Given the description of an element on the screen output the (x, y) to click on. 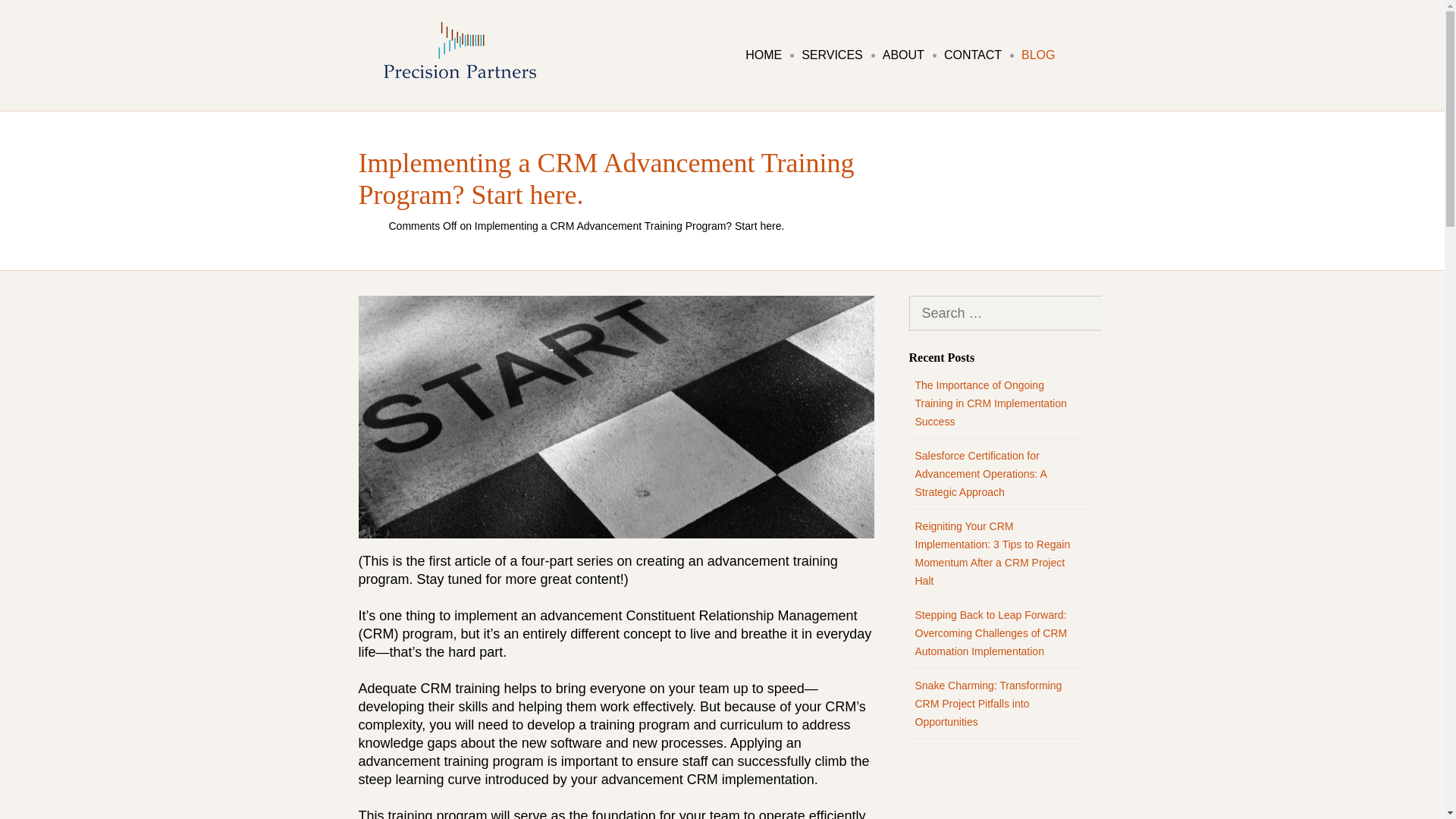
ABOUT (901, 54)
CONTACT (971, 54)
BLOG (1036, 54)
HOME (761, 54)
SERVICES (830, 54)
